Given the description of an element on the screen output the (x, y) to click on. 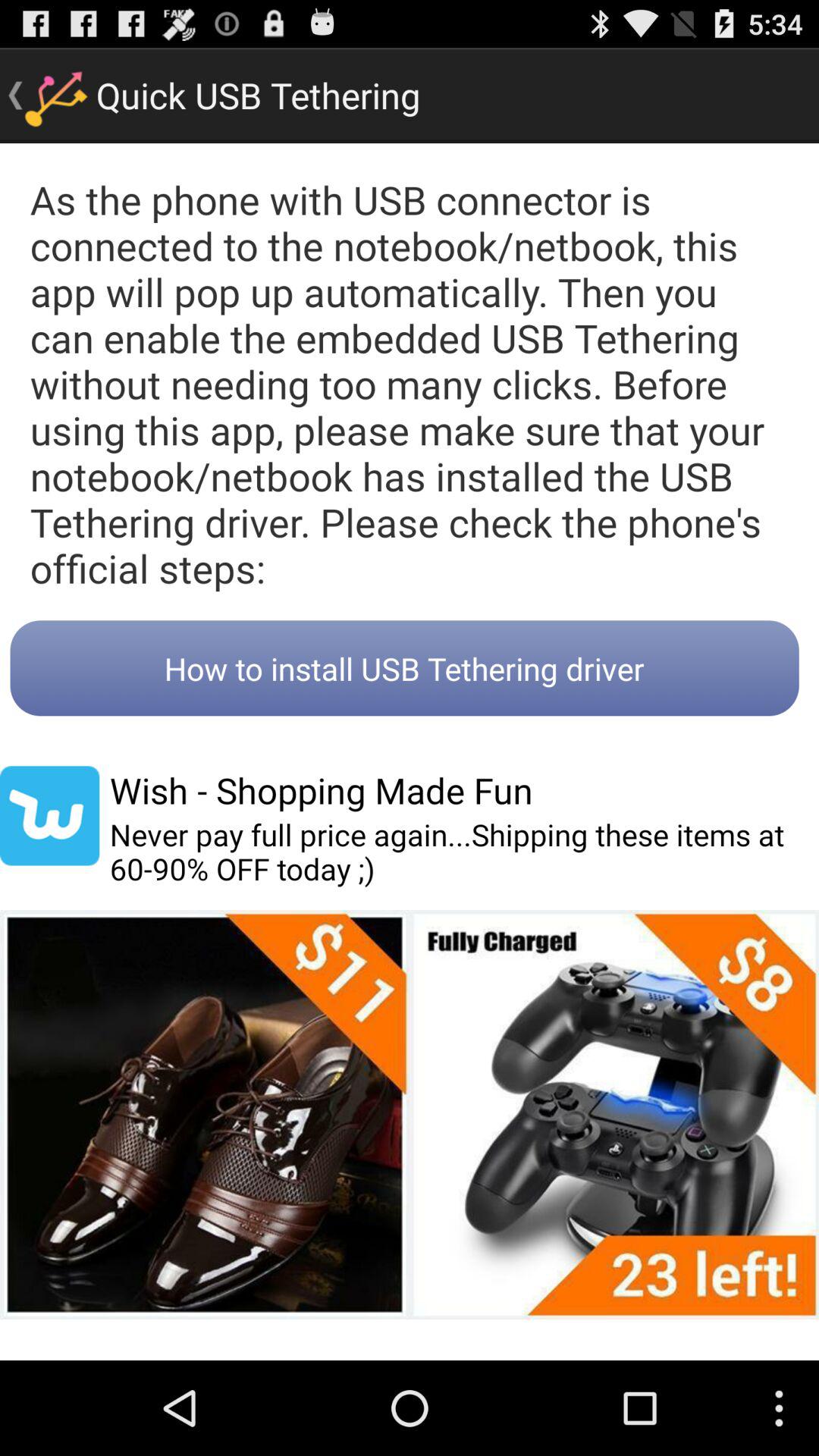
click the button below the how to install button (320, 790)
